Given the description of an element on the screen output the (x, y) to click on. 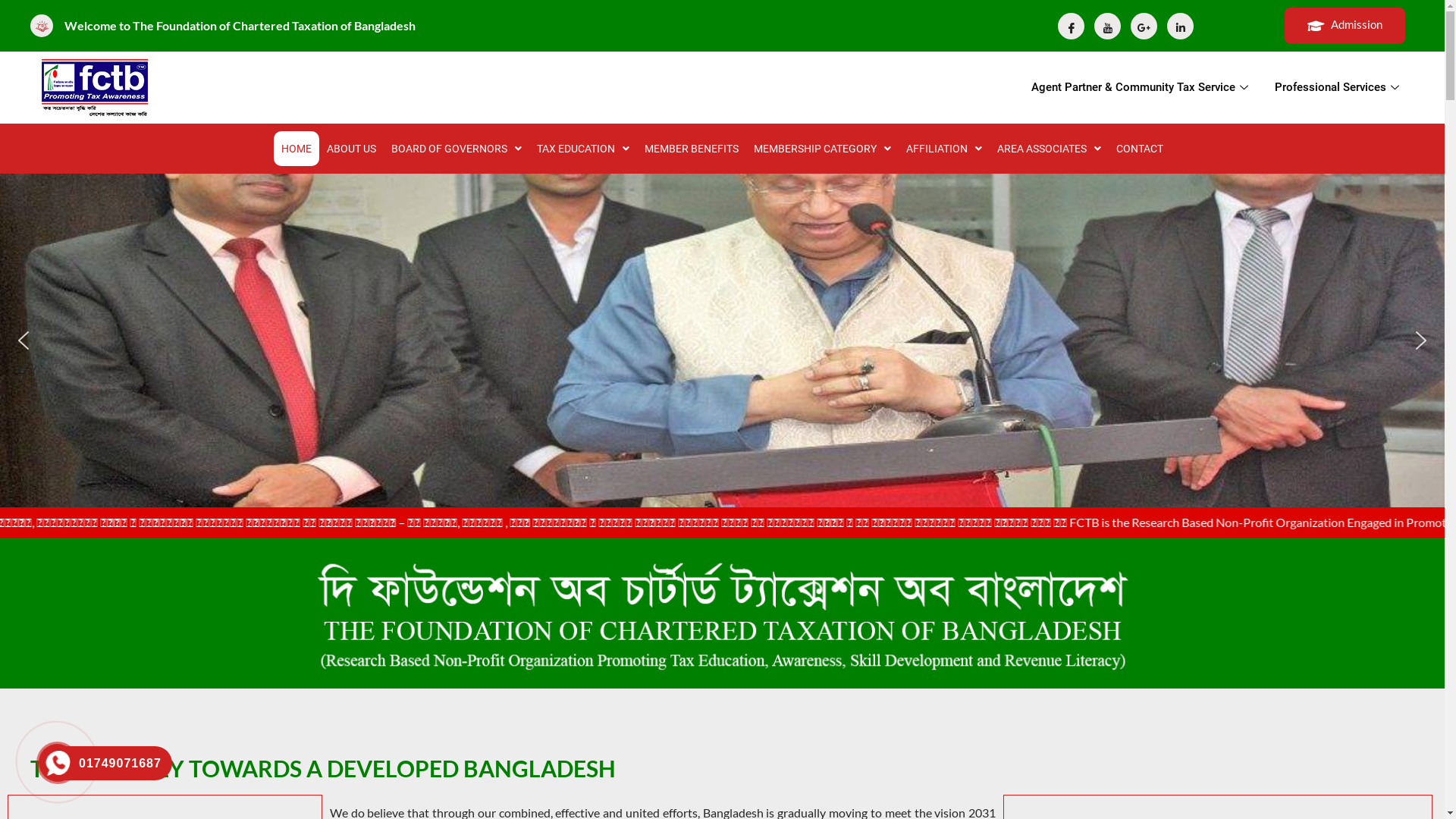
ABOUT US Element type: text (351, 148)
HOME Element type: text (296, 148)
Agent Partner & Community Tax Service Element type: text (1141, 87)
AREA ASSOCIATES Element type: text (1048, 148)
Professional Services Element type: text (1338, 87)
CONTACT Element type: text (1139, 148)
MEMBERSHIP CATEGORY Element type: text (822, 148)
BOARD OF GOVERNORS Element type: text (456, 148)
Admission Element type: text (1344, 25)
TAX EDUCATION Element type: text (583, 148)
01749071687 Element type: text (109, 763)
MEMBER BENEFITS Element type: text (691, 148)
AFFILIATION Element type: text (943, 148)
